Given the description of an element on the screen output the (x, y) to click on. 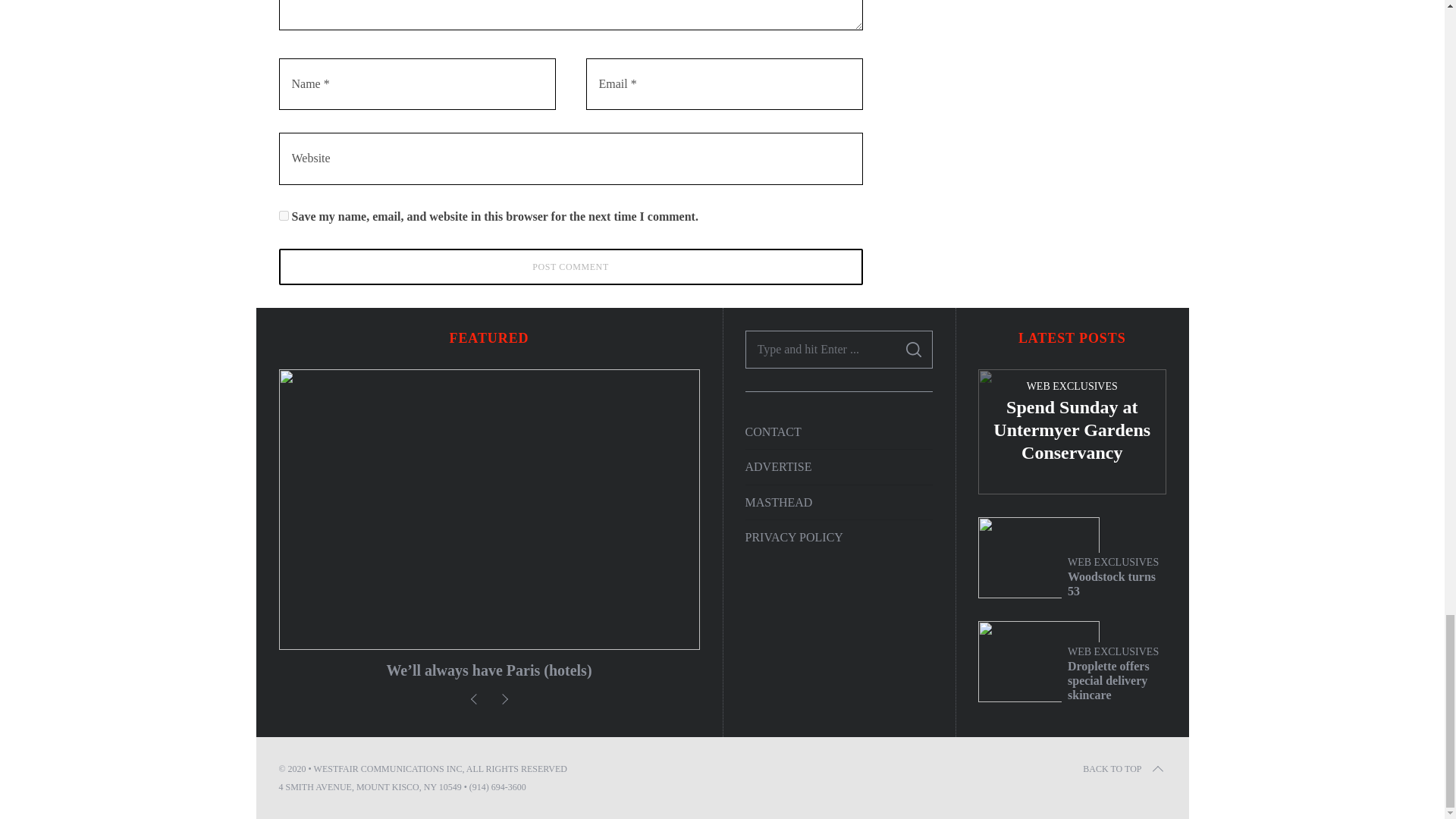
yes (283, 215)
Post Comment (571, 266)
